Given the description of an element on the screen output the (x, y) to click on. 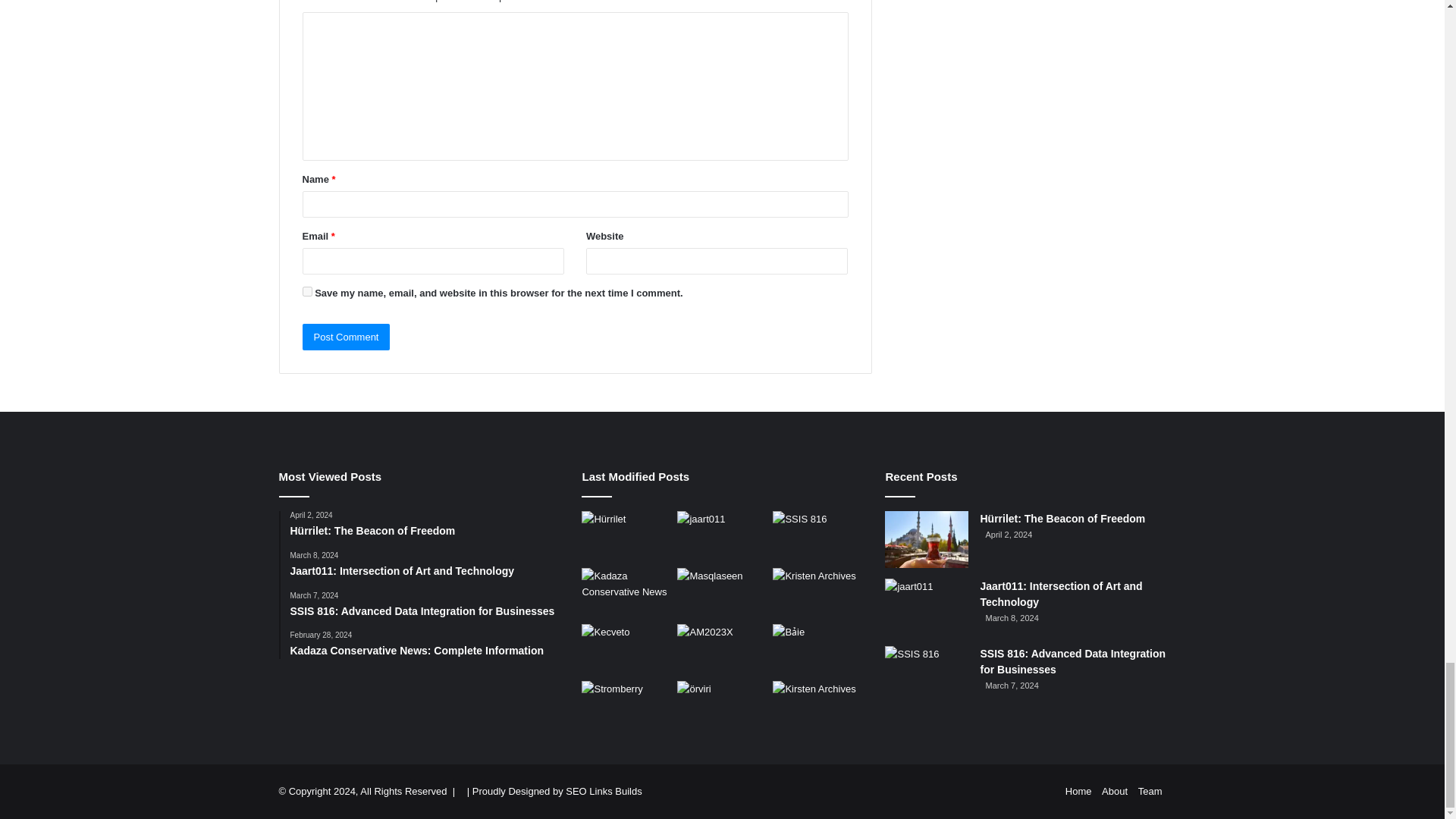
Post Comment (345, 336)
yes (306, 291)
